Given the description of an element on the screen output the (x, y) to click on. 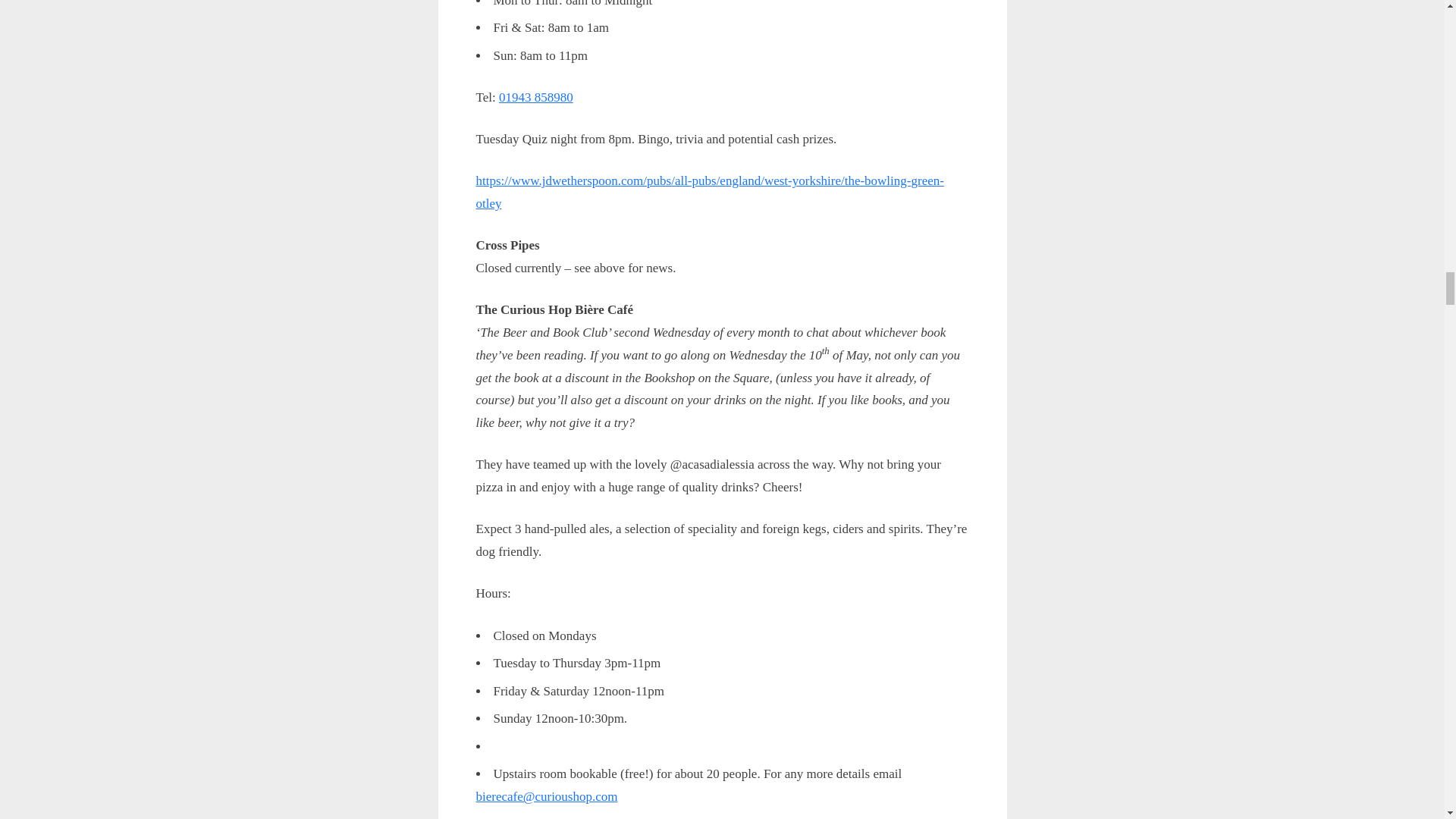
01943 858980 (536, 97)
